Given the description of an element on the screen output the (x, y) to click on. 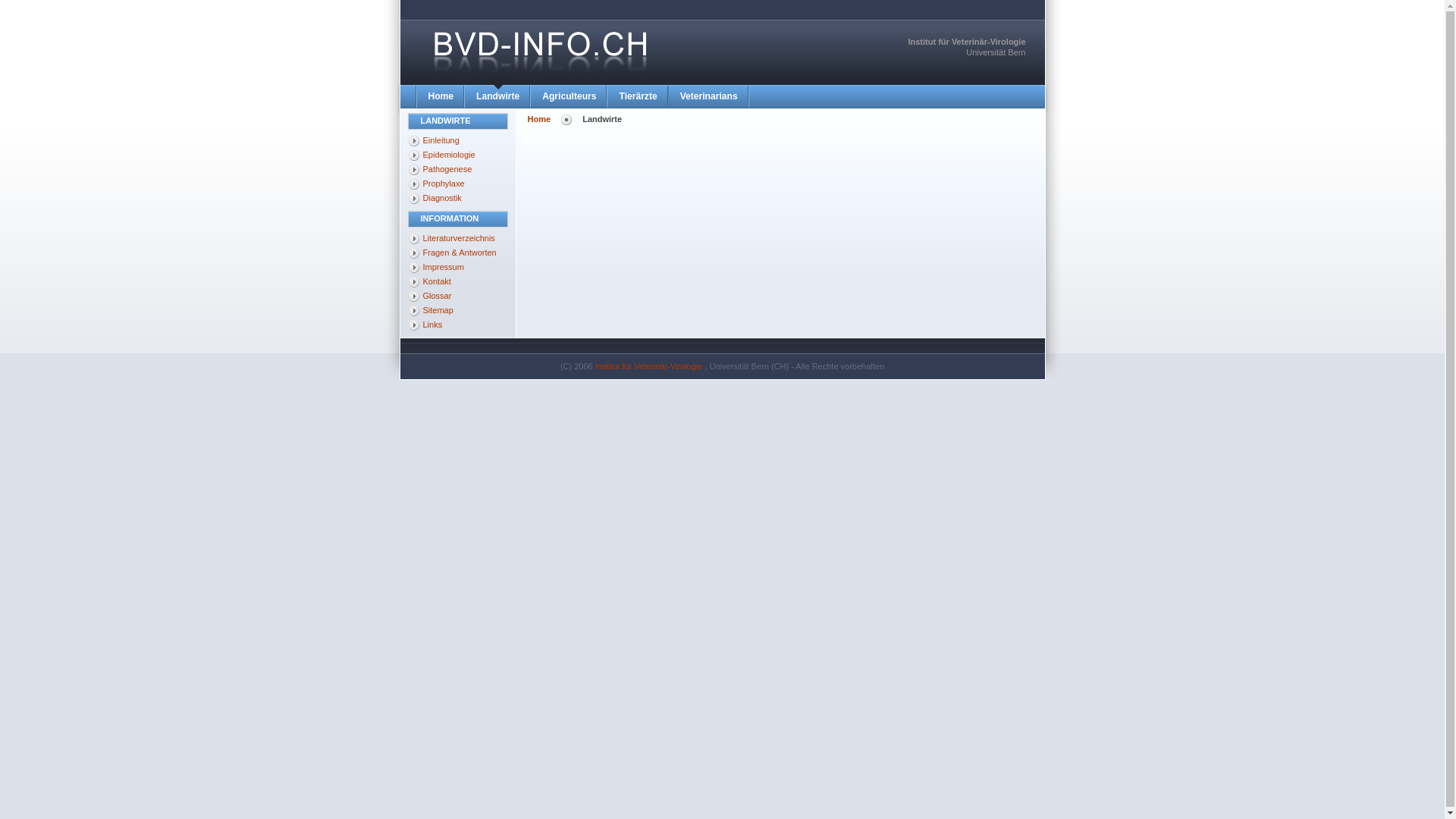
Einleitung Element type: text (457, 140)
Sitemap Element type: text (457, 310)
Agriculteurs Element type: text (568, 96)
Home Element type: text (539, 118)
Links Element type: text (457, 324)
Epidemiologie Element type: text (457, 155)
Impressum Element type: text (457, 266)
LANDWIRTE Element type: text (457, 120)
Home Element type: text (441, 96)
INFORMATION Element type: text (457, 218)
Kontakt Element type: text (457, 282)
Diagnostik Element type: text (457, 198)
Glossar Element type: text (457, 295)
Prophylaxe Element type: text (457, 184)
Landwirte Element type: text (497, 96)
Literaturverzeichnis Element type: text (457, 238)
Veterinarians Element type: text (708, 96)
Fragen & Antworten Element type: text (457, 253)
Pathogenese Element type: text (457, 169)
